Given the description of an element on the screen output the (x, y) to click on. 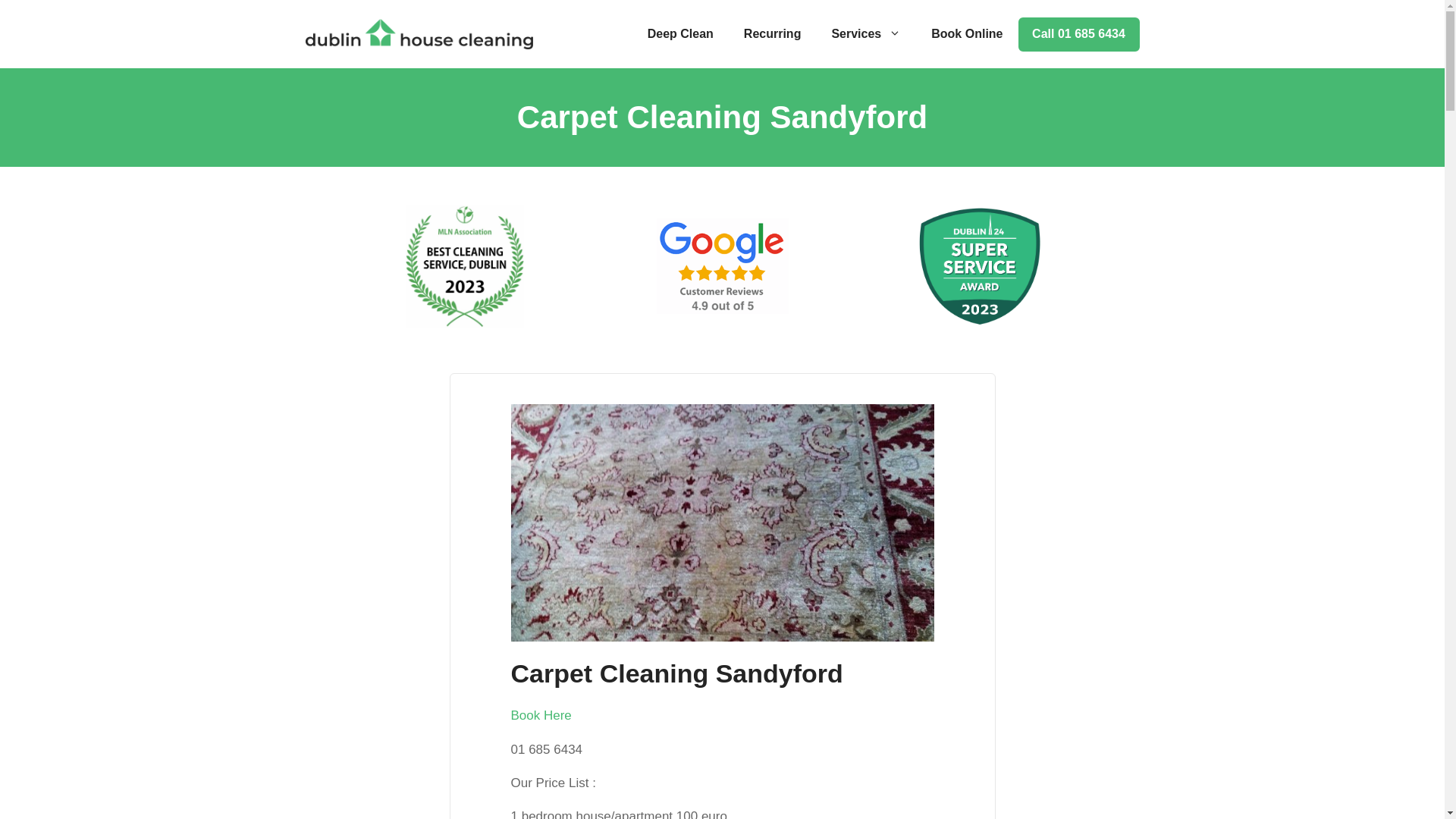
Call 01 685 6434 (1077, 33)
Book Here (541, 715)
Deep Clean (680, 34)
Recurring (772, 34)
Book Online (966, 34)
Services (865, 34)
